Given the description of an element on the screen output the (x, y) to click on. 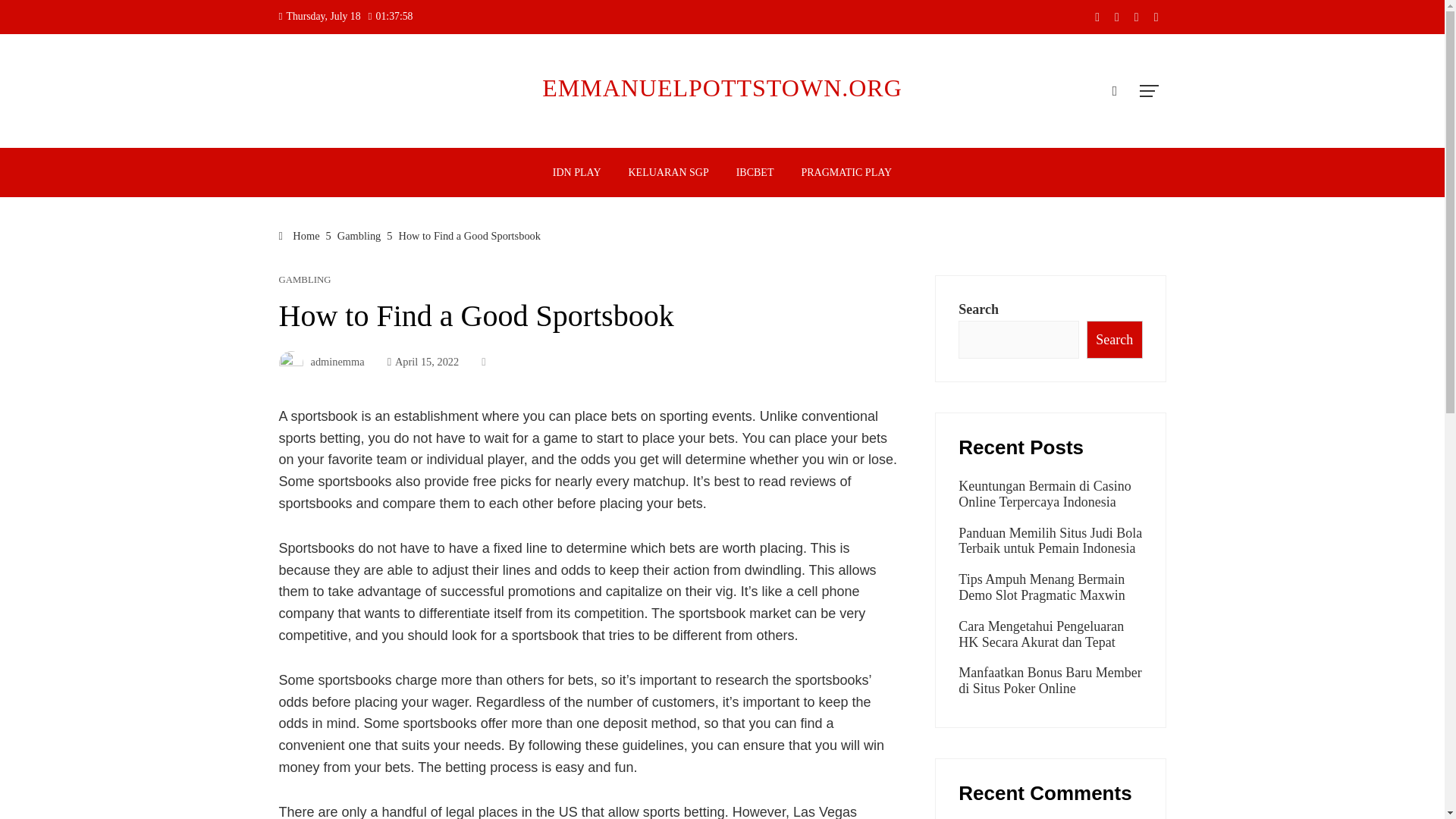
GAMBLING (305, 280)
Keuntungan Bermain di Casino Online Terpercaya Indonesia (1044, 493)
Search (1113, 339)
IDN PLAY (576, 172)
Cara Mengetahui Pengeluaran HK Secara Akurat dan Tepat (1041, 634)
PRAGMATIC PLAY (845, 172)
Gambling (359, 235)
Tips Ampuh Menang Bermain Demo Slot Pragmatic Maxwin (1041, 586)
IBCBET (755, 172)
EMMANUELPOTTSTOWN.ORG (721, 87)
Manfaatkan Bonus Baru Member di Situs Poker Online (1049, 680)
Home (299, 235)
KELUARAN SGP (668, 172)
